Given the description of an element on the screen output the (x, y) to click on. 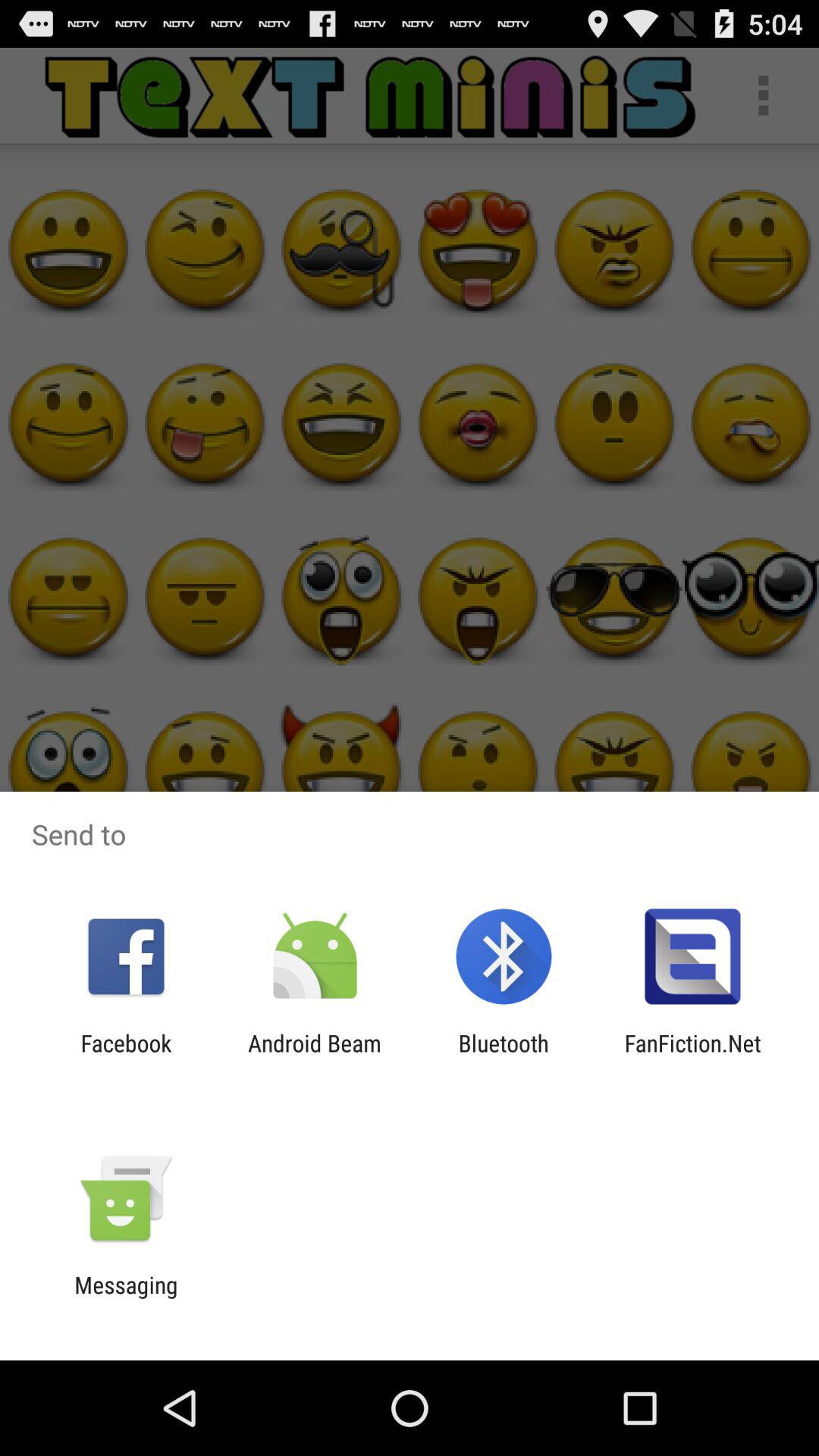
turn on android beam item (314, 1056)
